Given the description of an element on the screen output the (x, y) to click on. 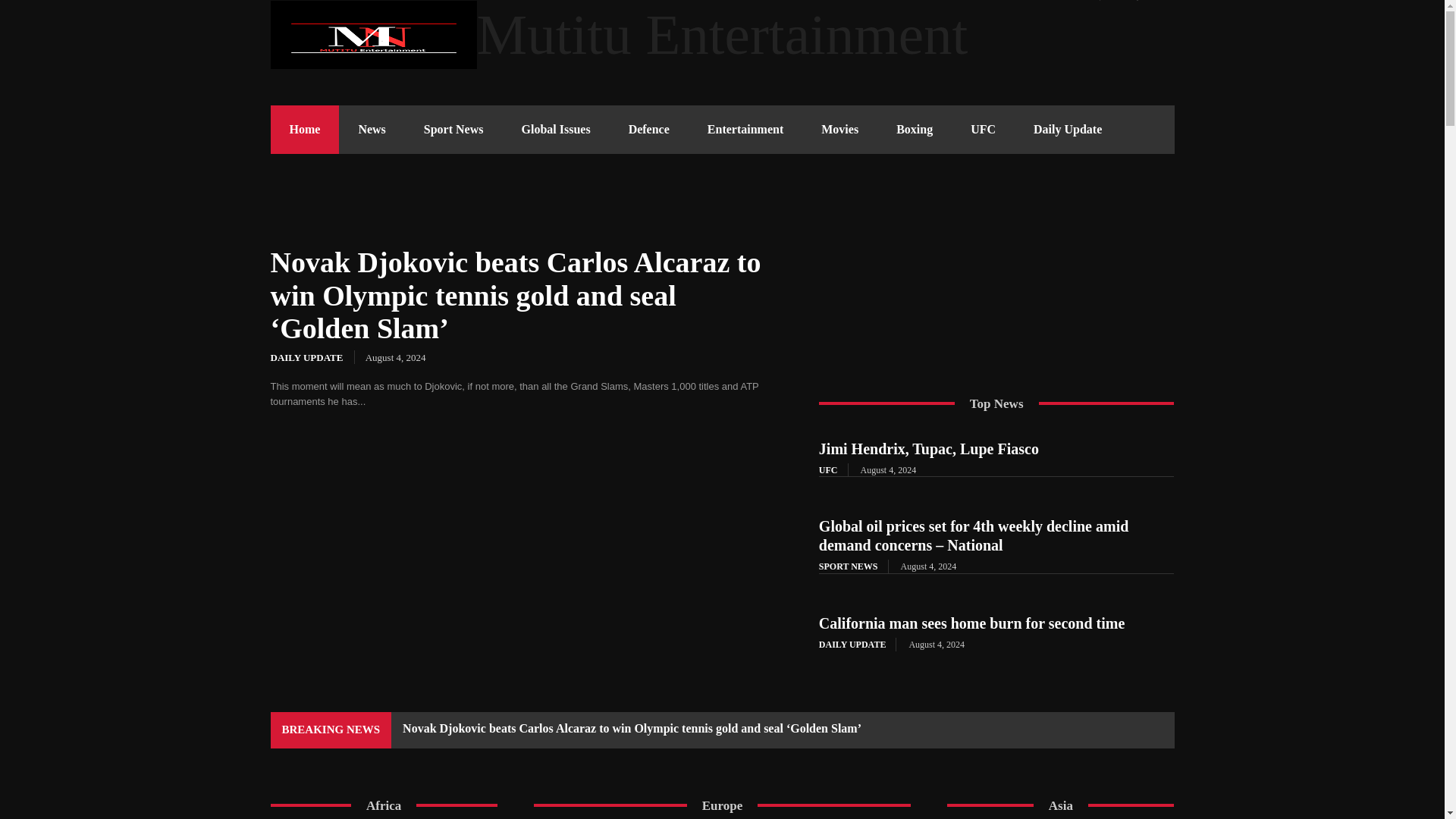
Boxing (914, 129)
Sport News (453, 129)
Home (304, 129)
Global Issues (555, 129)
Defence (649, 129)
Jimi Hendrix, Tupac, Lupe Fiasco (928, 448)
UFC (983, 129)
Entertainment (745, 129)
Movies (839, 129)
News (371, 129)
